Given the description of an element on the screen output the (x, y) to click on. 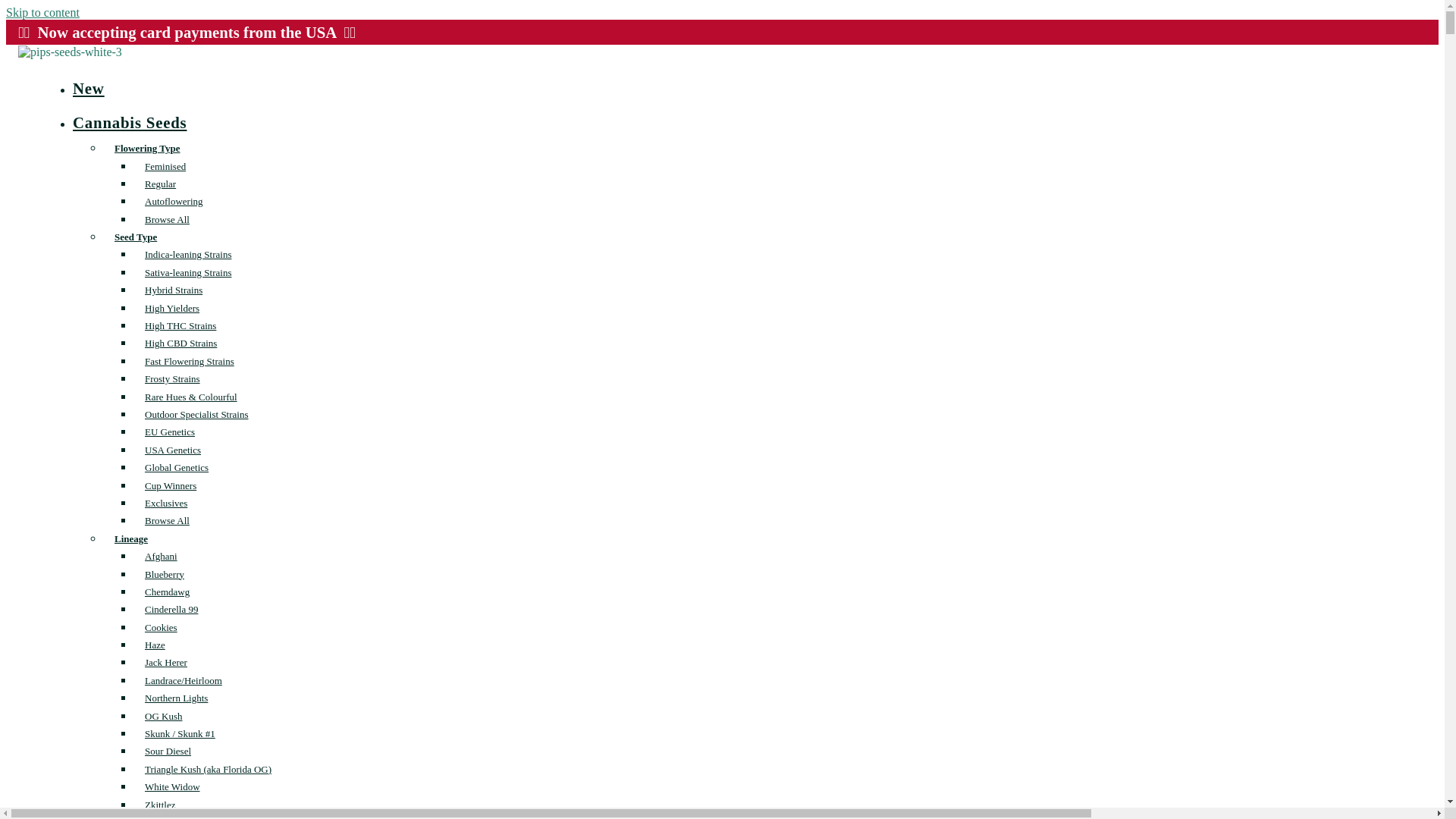
Outdoor Specialist Strains (196, 414)
pips-seeds-white-3 (77, 51)
Skip to content (42, 11)
New (103, 88)
High Yielders (172, 307)
Browse All (166, 219)
Autoflowering (173, 200)
Haze (154, 644)
High CBD Strains (180, 342)
High THC Strains (180, 325)
Afghani (161, 556)
Frosty Strains (172, 378)
Cinderella 99 (171, 609)
Cannabis Seeds (145, 122)
Exclusives (165, 502)
